Given the description of an element on the screen output the (x, y) to click on. 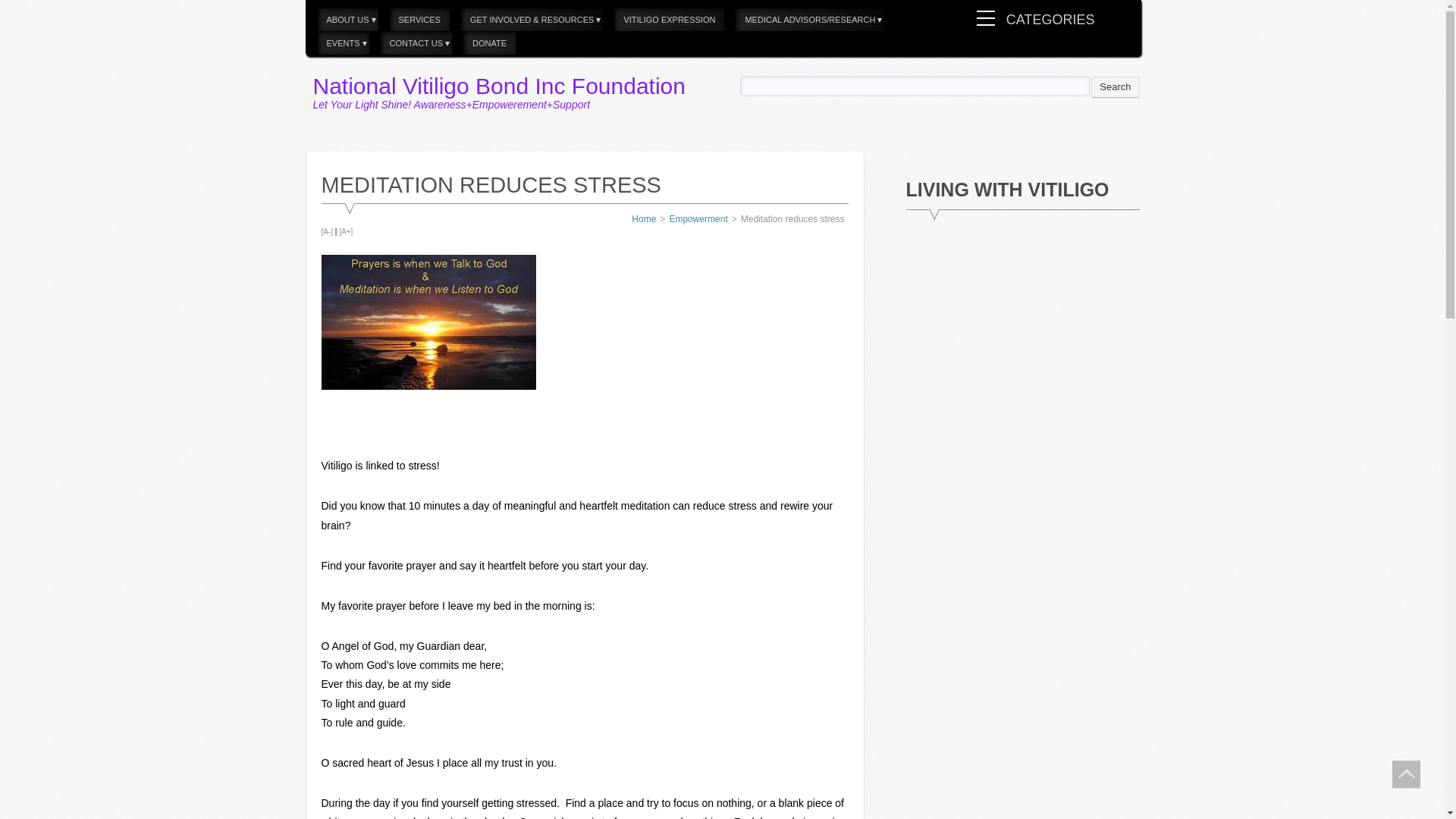
DONATE (489, 43)
SERVICES (419, 19)
VITILIGO EXPRESSION (668, 19)
EVENTS (342, 43)
ABOUT US (347, 19)
Search (1114, 86)
Decrease font-size (327, 231)
CONTACT US (416, 43)
Increase font size (345, 231)
